Given the description of an element on the screen output the (x, y) to click on. 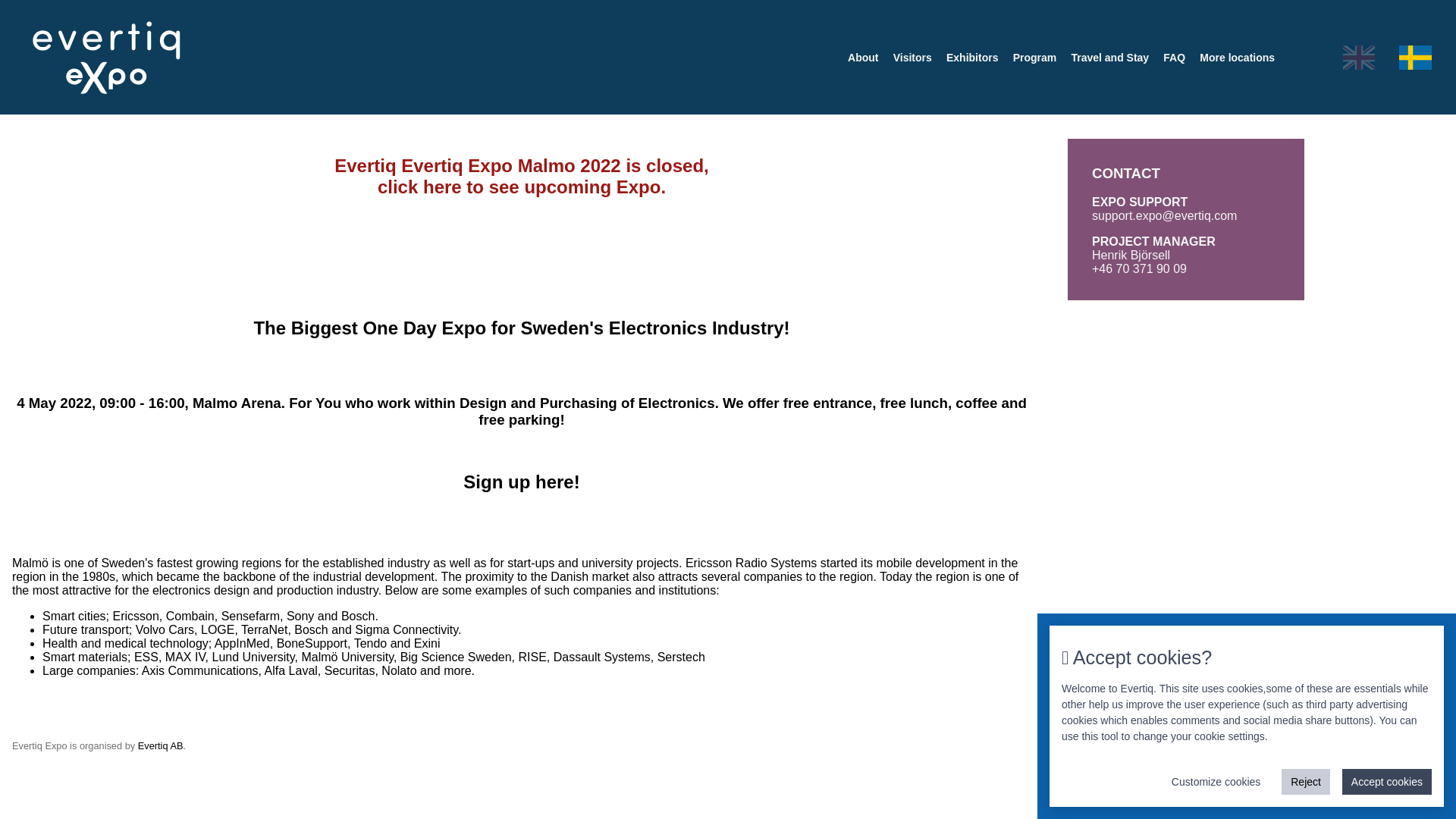
Sign up here! (521, 481)
About (862, 57)
Evertiq AB (160, 745)
Program (1035, 57)
Visitors (912, 57)
Travel and Stay (1110, 57)
FAQ (1174, 57)
Exhibitors (972, 57)
More locations (1237, 57)
